Given the description of an element on the screen output the (x, y) to click on. 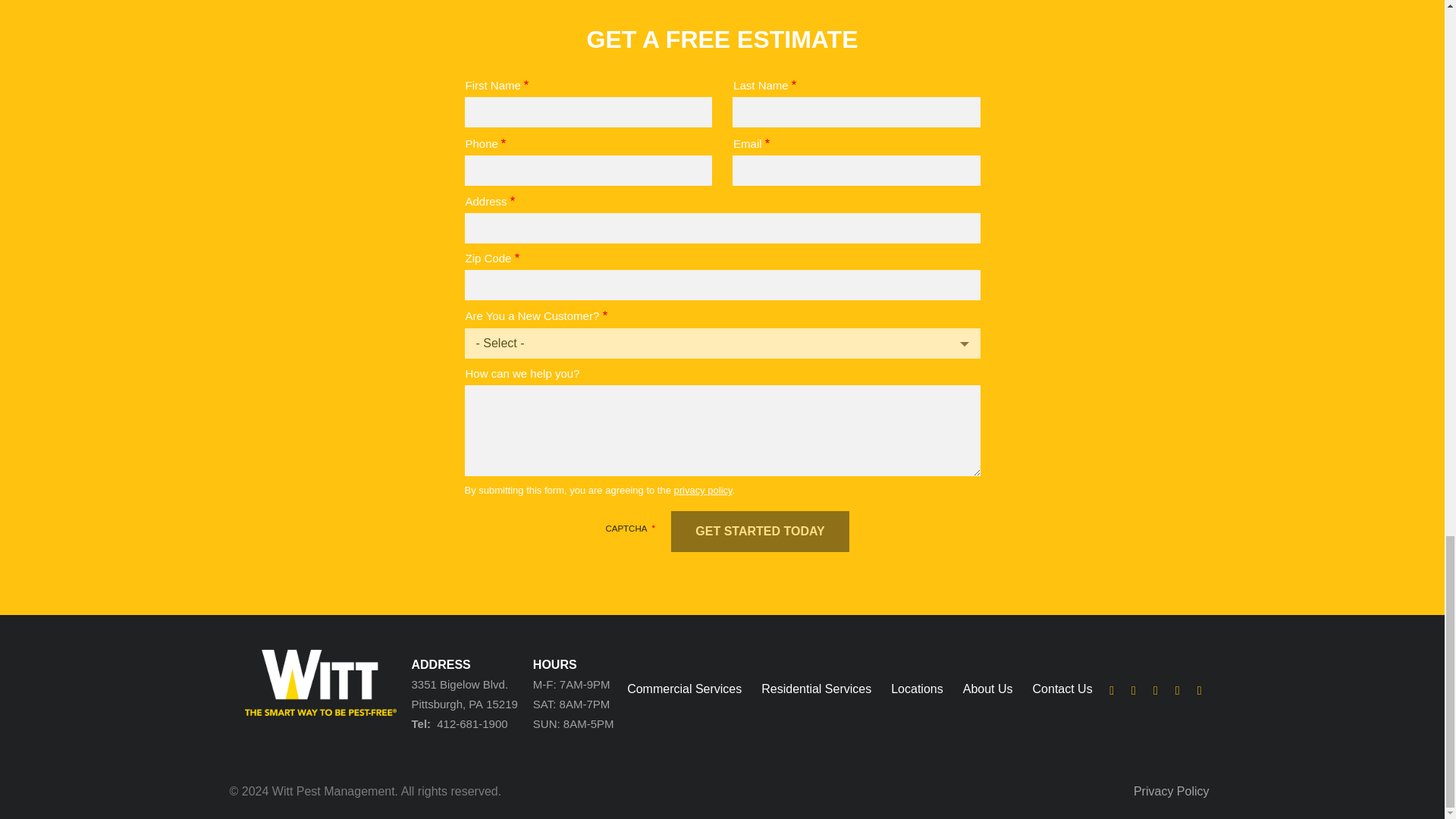
Get Started Today (759, 531)
About Us (987, 689)
Residential Services (815, 689)
Privacy Policy (1171, 791)
Contact Us (1062, 689)
Locations (917, 689)
Commercial Services (684, 689)
